Given the description of an element on the screen output the (x, y) to click on. 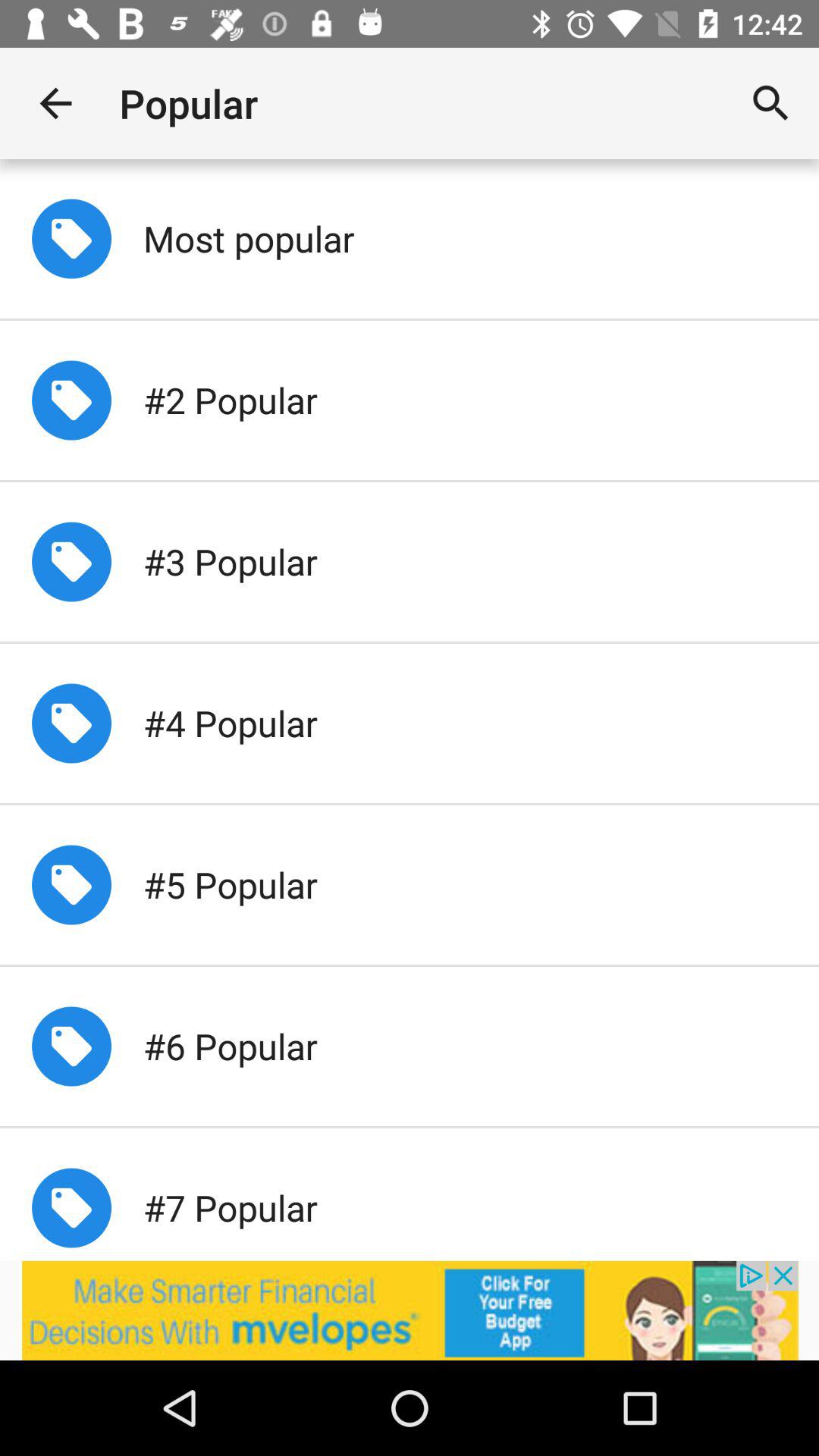
advertisement link (409, 1310)
